Given the description of an element on the screen output the (x, y) to click on. 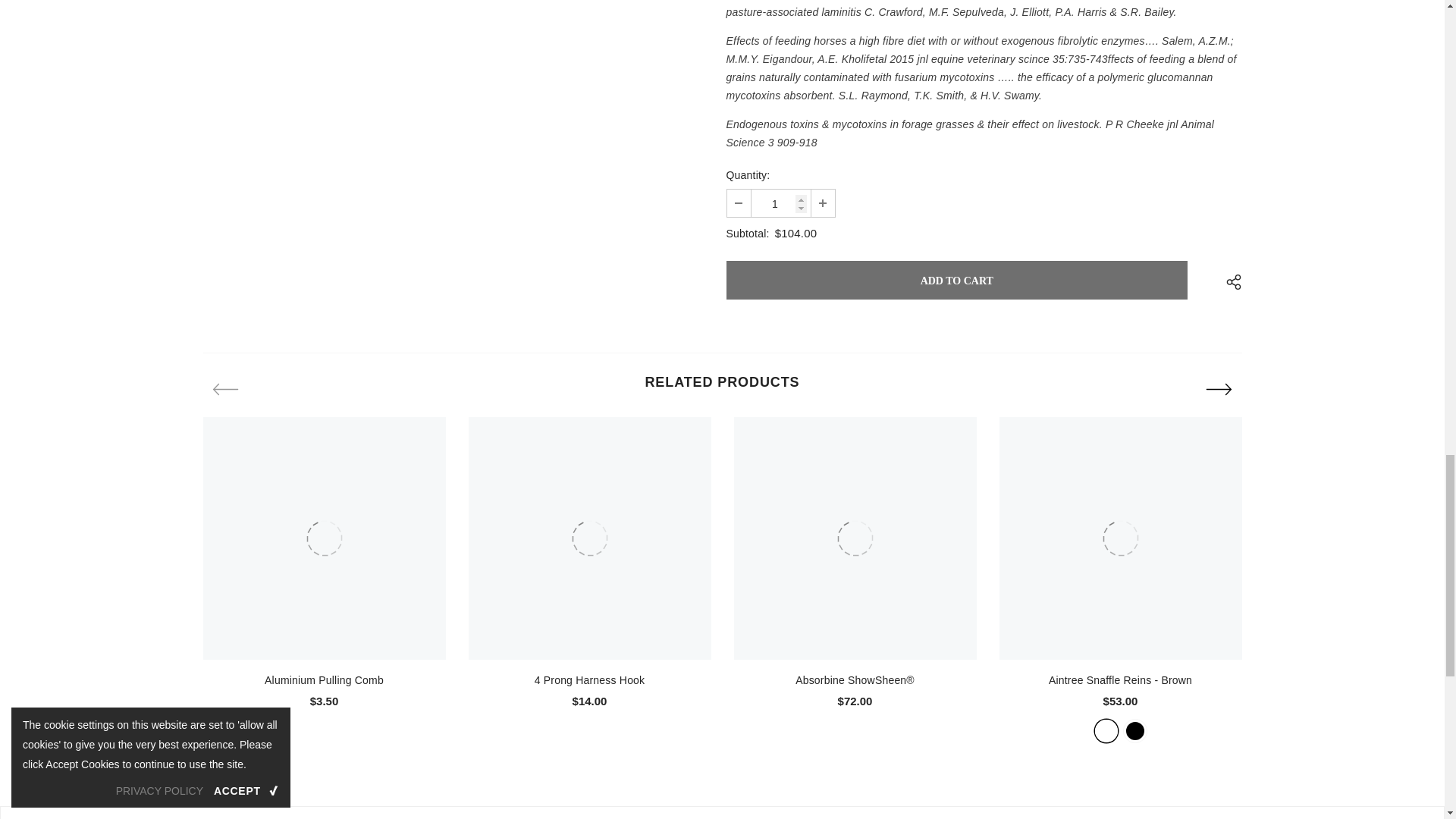
1 (780, 203)
Add to Cart (957, 280)
